Given the description of an element on the screen output the (x, y) to click on. 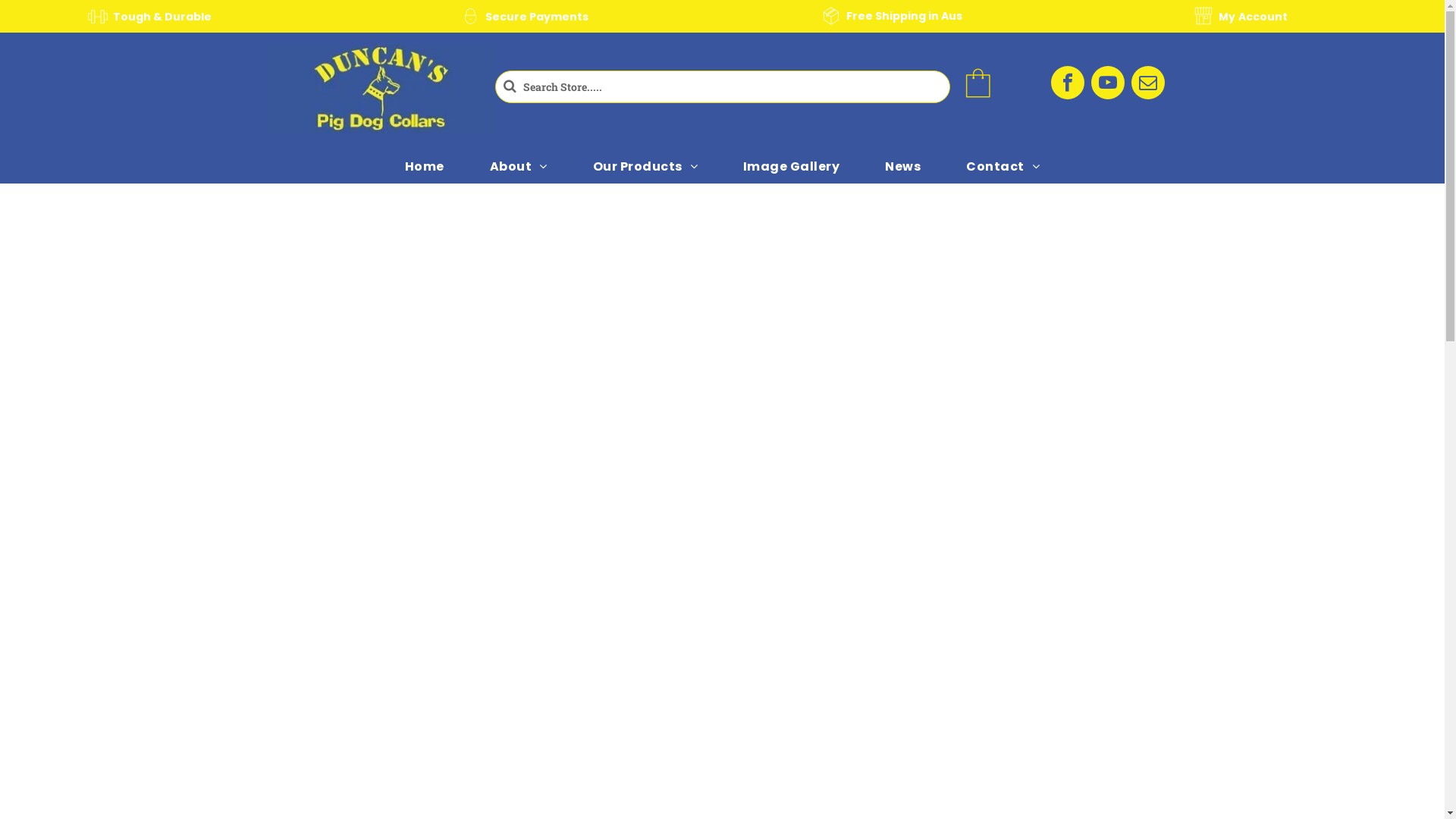
Contact Element type: text (1002, 165)
News Element type: text (902, 165)
Home Element type: text (424, 165)
Account Element type: text (1262, 16)
My Element type: text (1226, 16)
About Element type: text (518, 165)
Our Products Element type: text (645, 165)
Image Gallery Element type: text (791, 165)
